Given the description of an element on the screen output the (x, y) to click on. 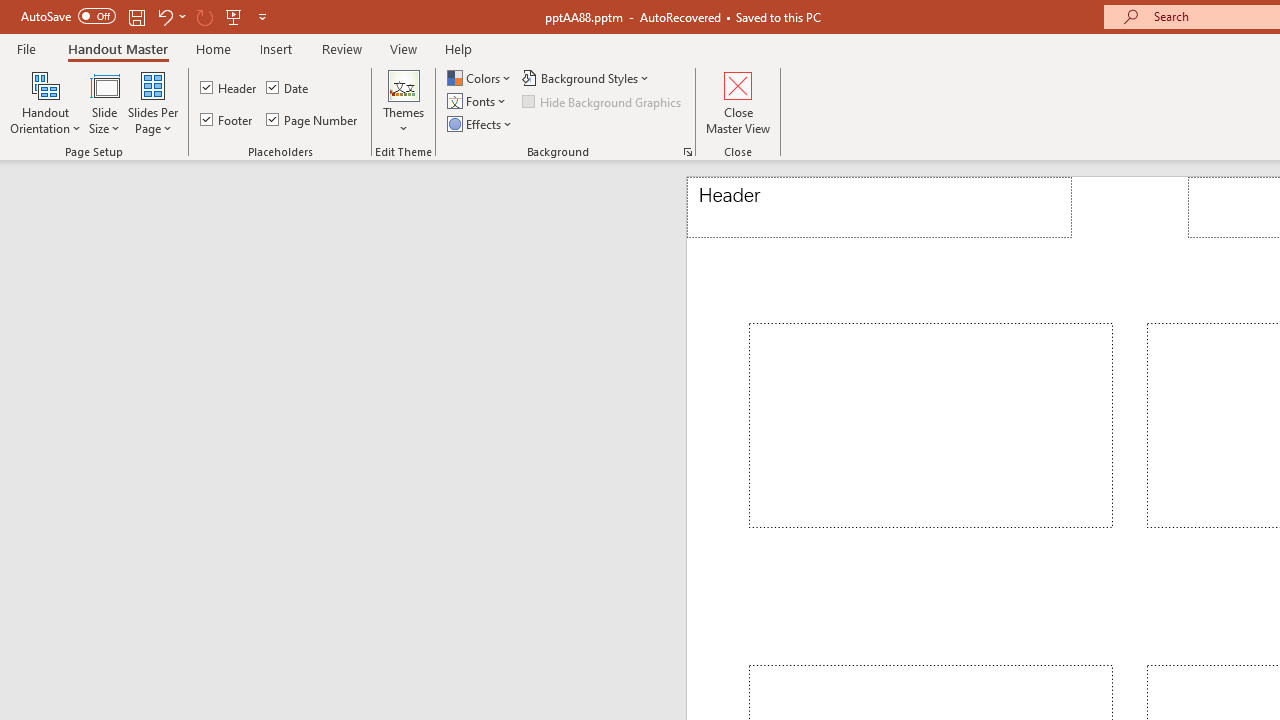
Fonts (478, 101)
Effects (481, 124)
